Given the description of an element on the screen output the (x, y) to click on. 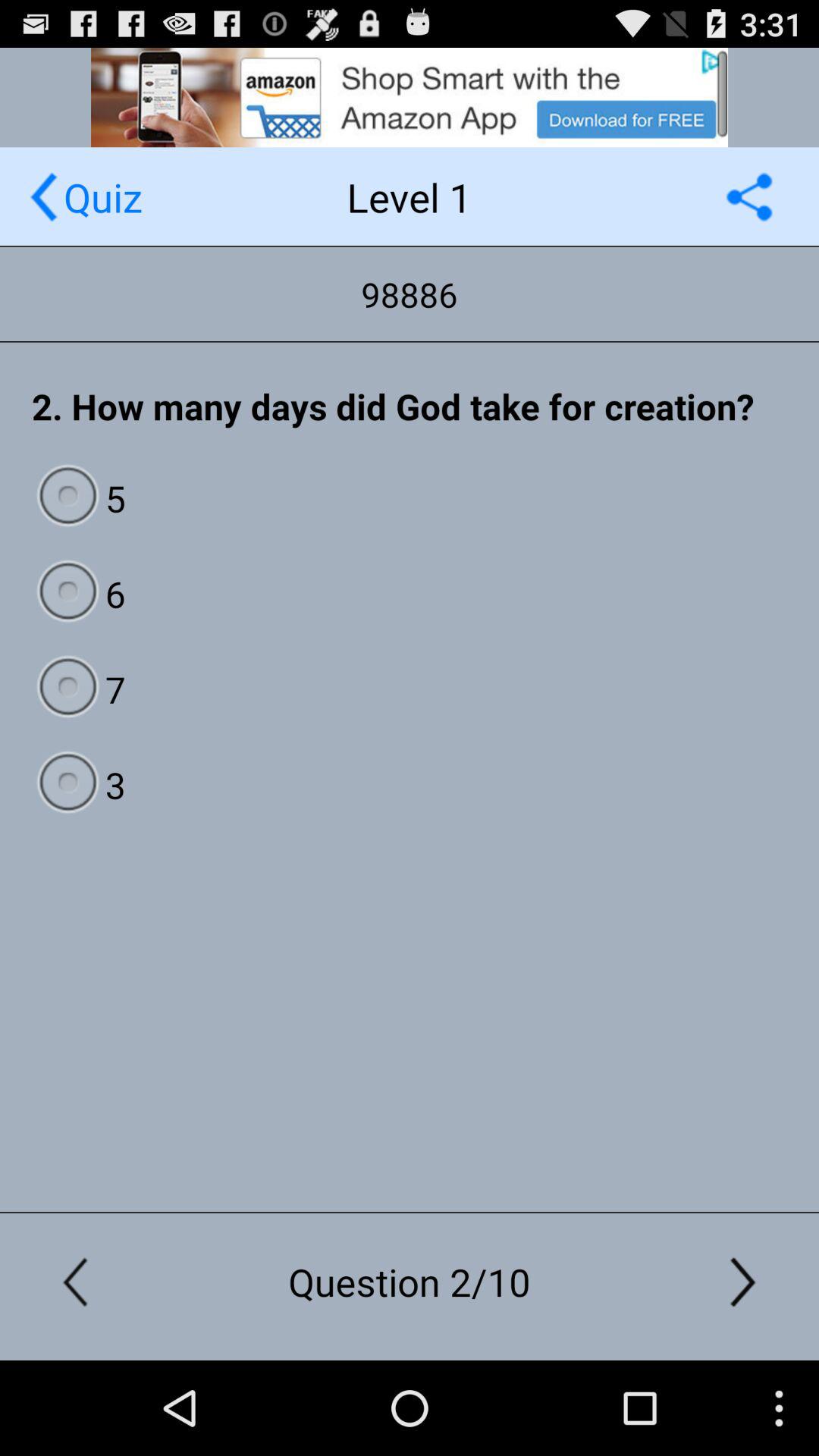
share (749, 196)
